Given the description of an element on the screen output the (x, y) to click on. 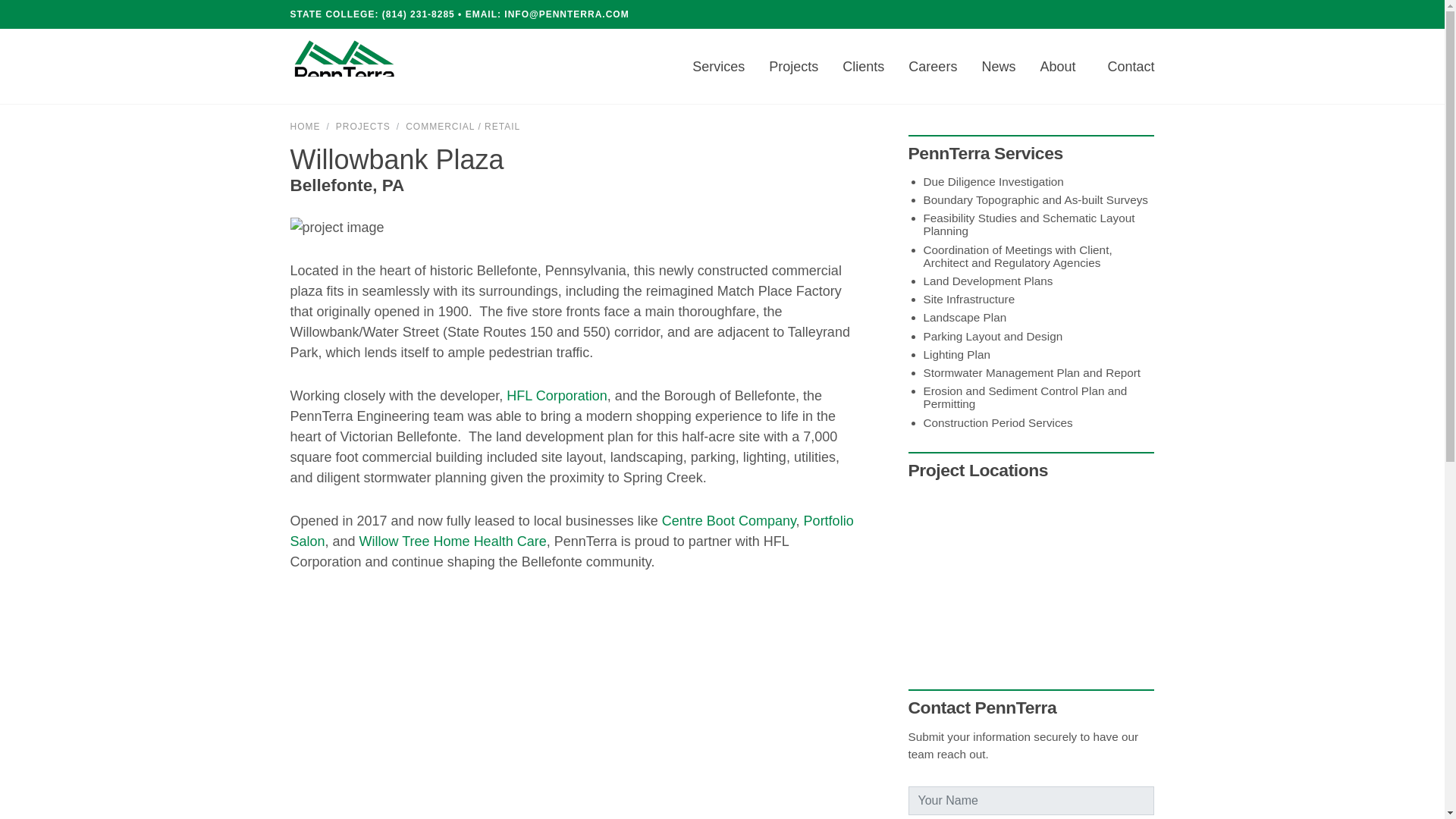
PROJECTS (363, 126)
HOME (304, 126)
Willow Tree Home Health Care (453, 540)
HFL Corporation (556, 395)
Projects (793, 66)
Centre Boot Company (729, 520)
Careers (932, 66)
Portfolio Salon (571, 530)
Services (718, 66)
